Given the description of an element on the screen output the (x, y) to click on. 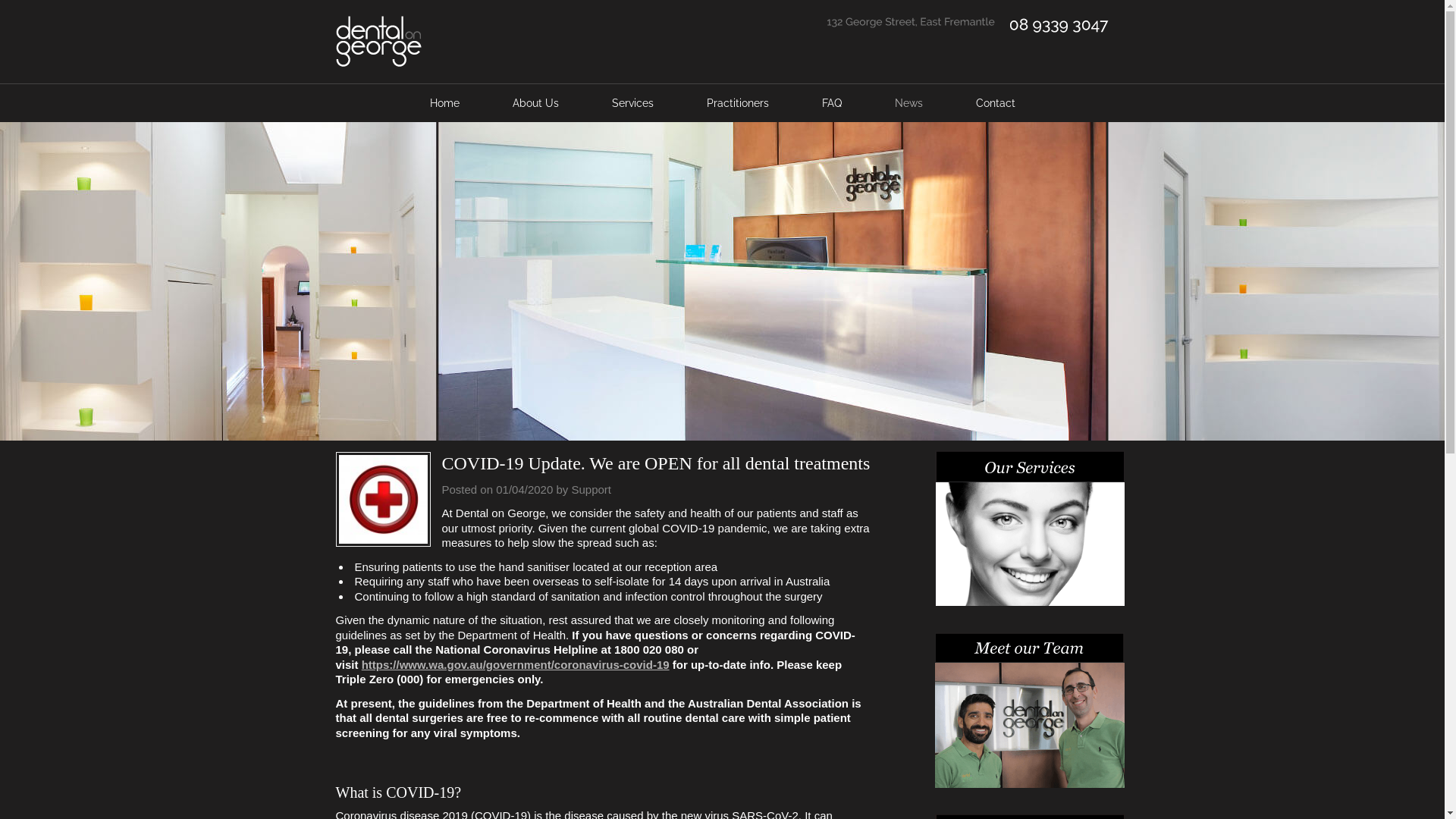
About Us Element type: text (534, 103)
FAQ Element type: text (830, 103)
Practitioners Element type: text (736, 103)
Support Element type: text (591, 489)
https://www.wa.gov.au/government/coronavirus-covid-19 Element type: text (515, 664)
Contact Element type: text (995, 103)
News Element type: text (907, 103)
Services Element type: text (632, 103)
Home Element type: text (444, 103)
